Given the description of an element on the screen output the (x, y) to click on. 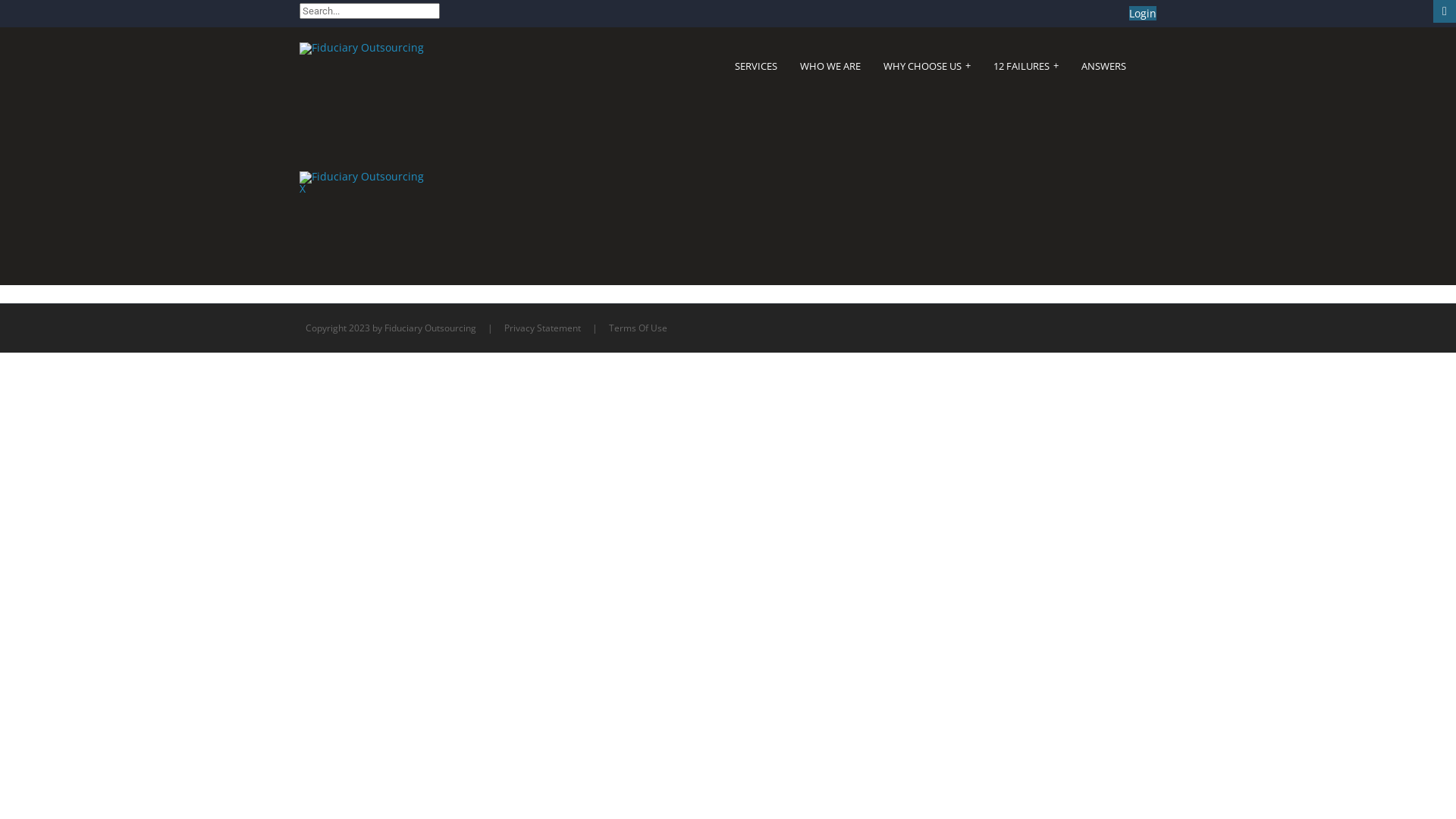
ANSWERS Element type: text (1103, 66)
WHY CHOOSE US Element type: text (926, 66)
12 FAILURES Element type: text (1025, 66)
Terms Of Use Element type: text (637, 327)
Fiduciary Outsourcing Element type: hover (361, 47)
Login Element type: text (463, 113)
Login Element type: text (1142, 13)
X Element type: text (302, 188)
Fiduciary Outsourcing Element type: hover (361, 176)
Reset Password Element type: text (474, 185)
Cancel Element type: text (533, 113)
Privacy Statement Element type: text (542, 327)
Clear search text Element type: hover (426, 32)
WHO WE ARE Element type: text (830, 66)
SERVICES Element type: text (755, 66)
